Given the description of an element on the screen output the (x, y) to click on. 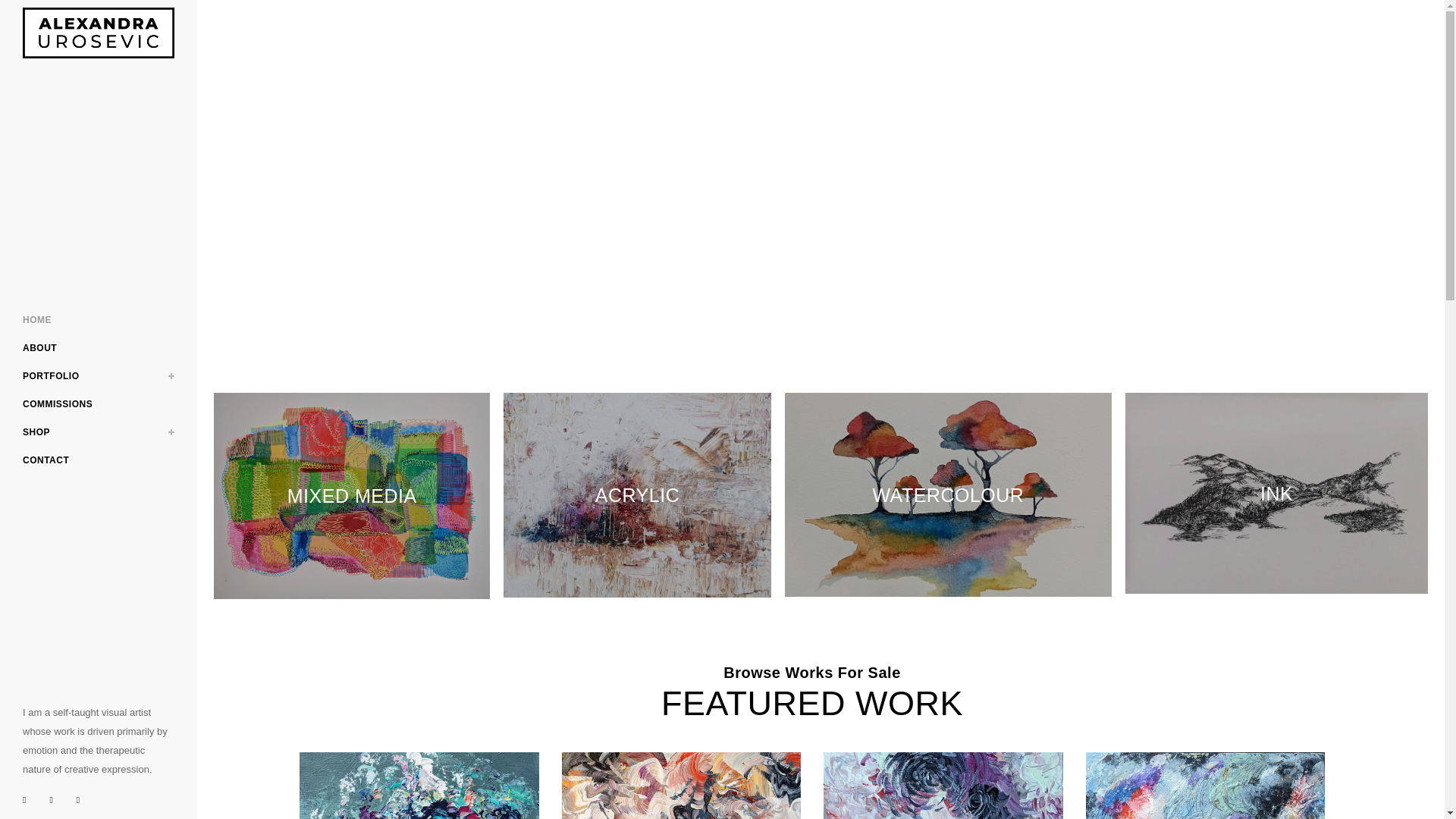
PORTFOLIO (98, 376)
COMMISSIONS (98, 404)
HOME (98, 320)
The Slowest Wish (418, 785)
ABOUT (98, 348)
CONTACT (98, 460)
Phoenix (943, 785)
We Will Hear Magnificence (680, 785)
Decreate (1205, 785)
SHOP (98, 432)
